Given the description of an element on the screen output the (x, y) to click on. 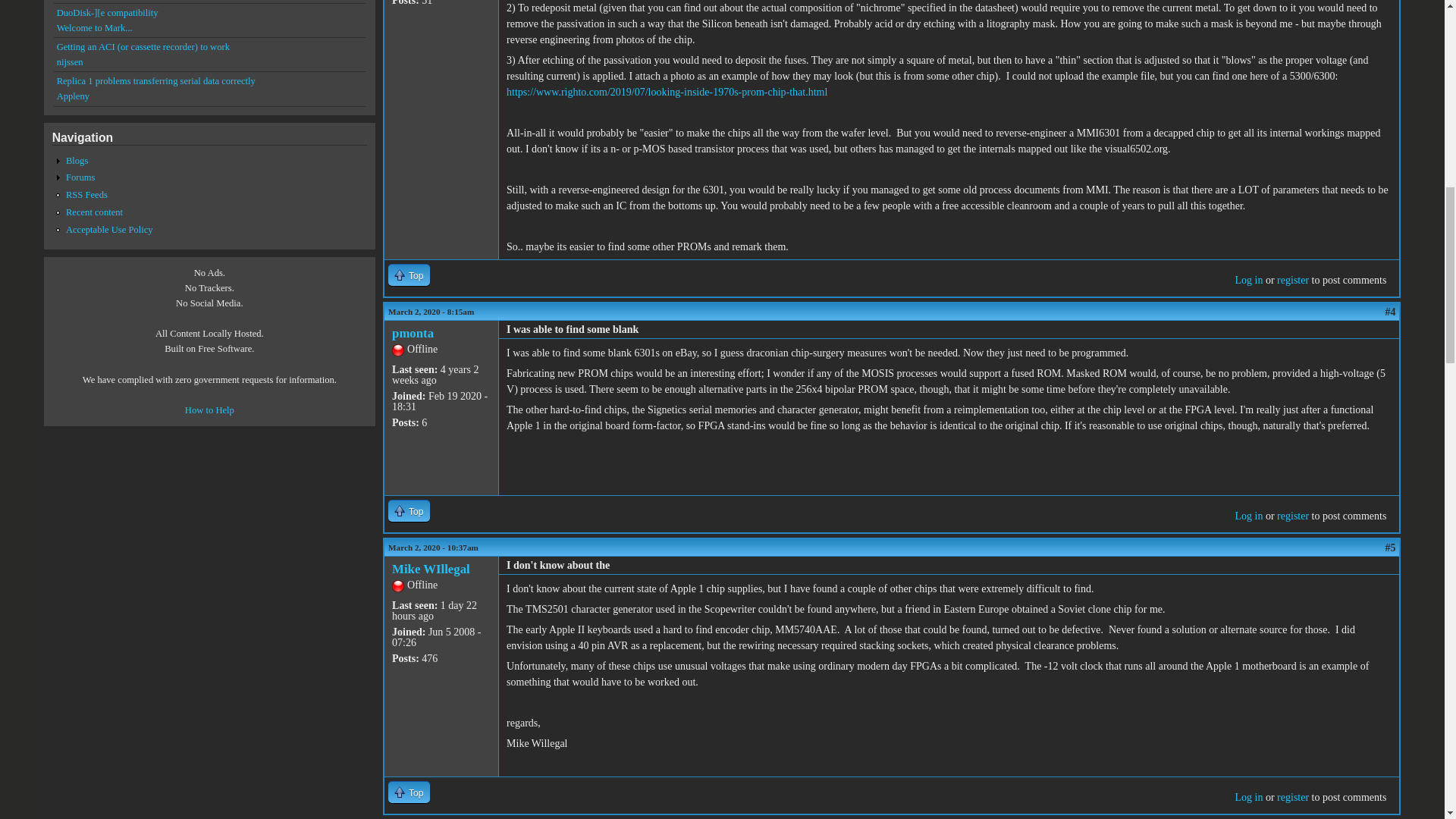
pmonta (412, 332)
Jump to top of page (408, 274)
View user profile. (430, 568)
register (1292, 279)
View user profile. (412, 332)
Top (408, 274)
Top (408, 510)
Jump to top of page (408, 792)
Log in (1248, 515)
register (1292, 515)
Jump to top of page (408, 510)
Log in (1248, 279)
